Given the description of an element on the screen output the (x, y) to click on. 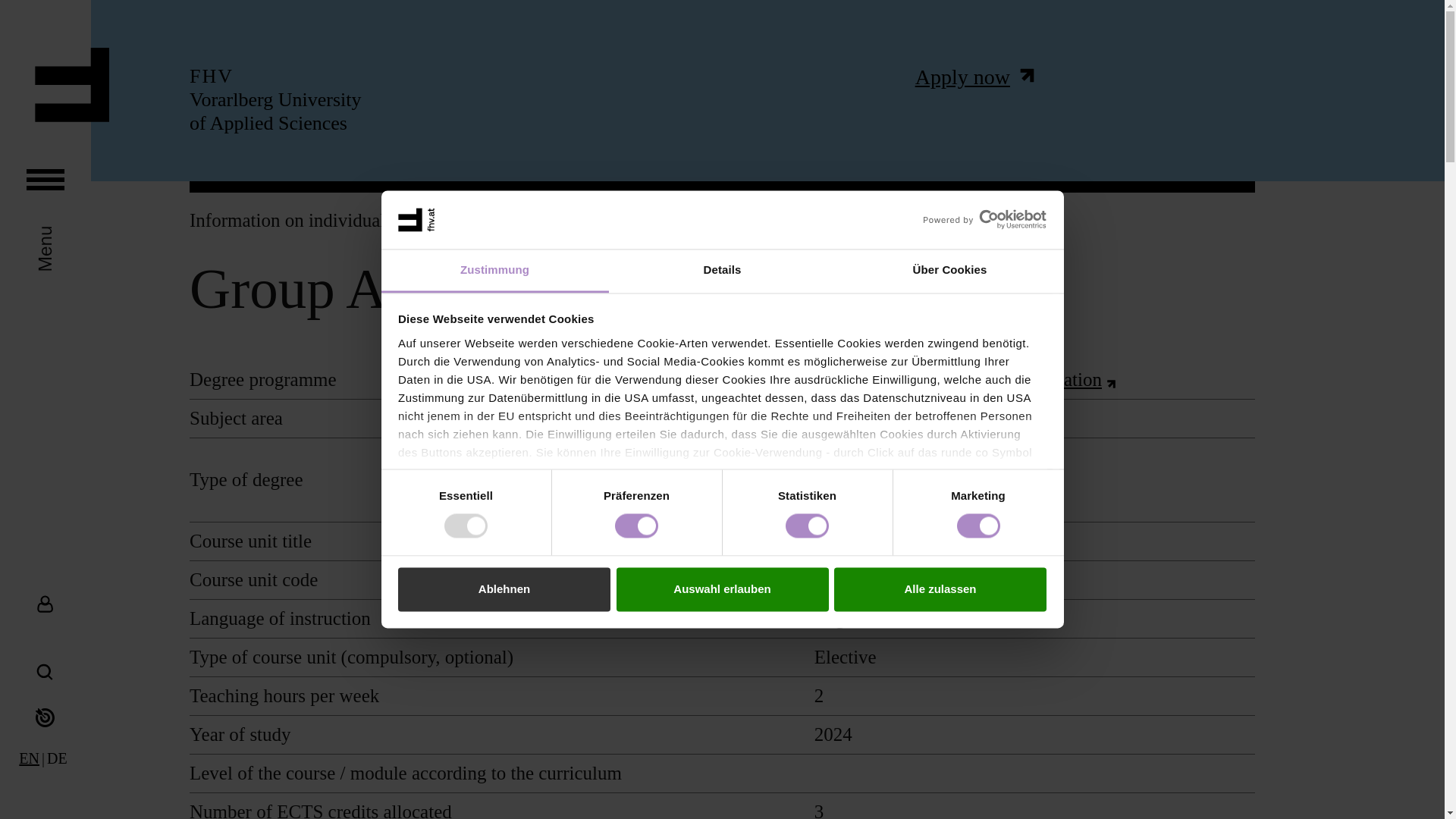
Details (721, 270)
Zustimmung (494, 270)
FHV - Vorarlberg University of Applied Sciences (56, 758)
